Given the description of an element on the screen output the (x, y) to click on. 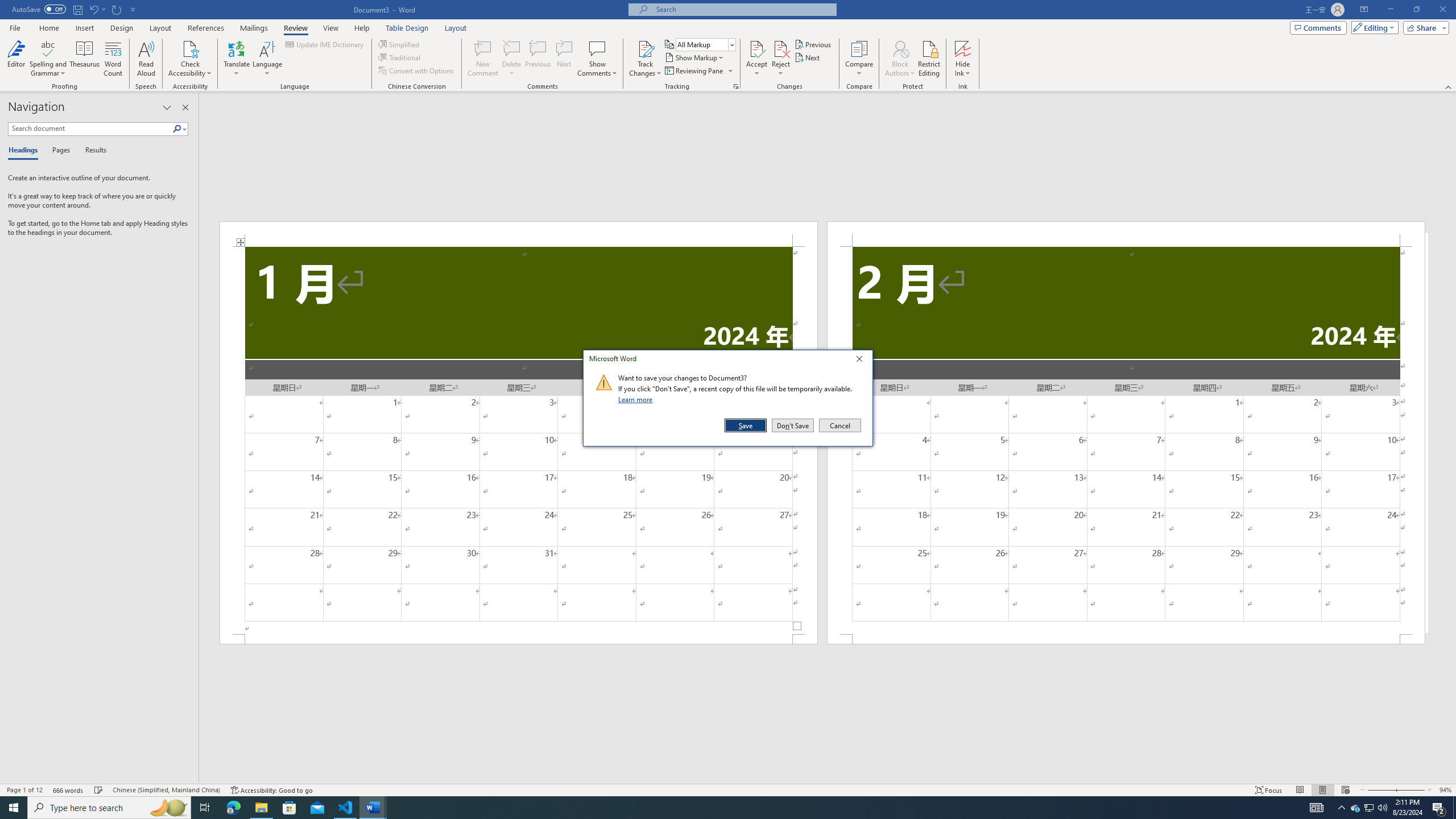
Reviewing Pane (694, 69)
Header -Section 2- (1126, 233)
